Given the description of an element on the screen output the (x, y) to click on. 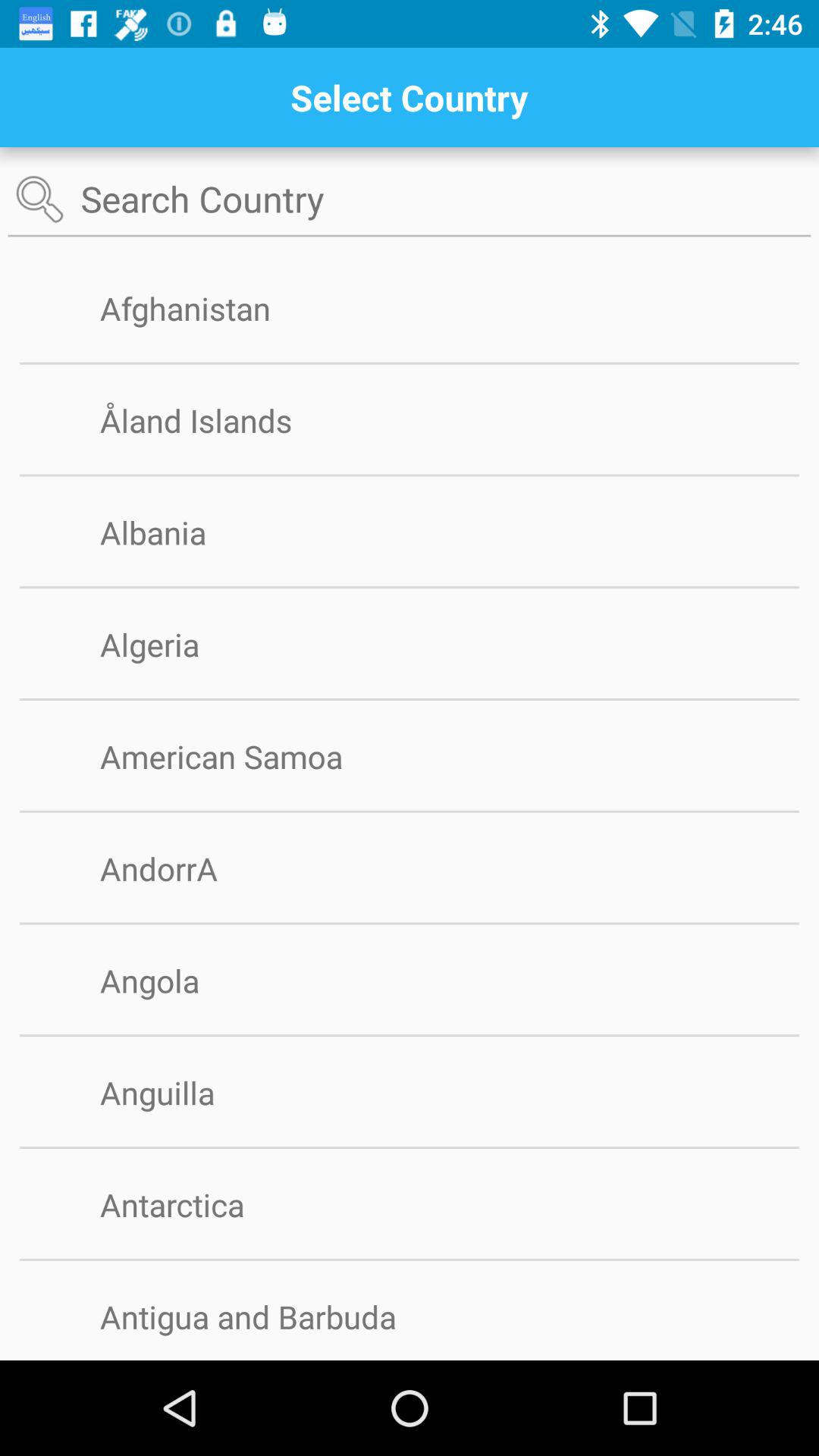
google search (409, 199)
